Given the description of an element on the screen output the (x, y) to click on. 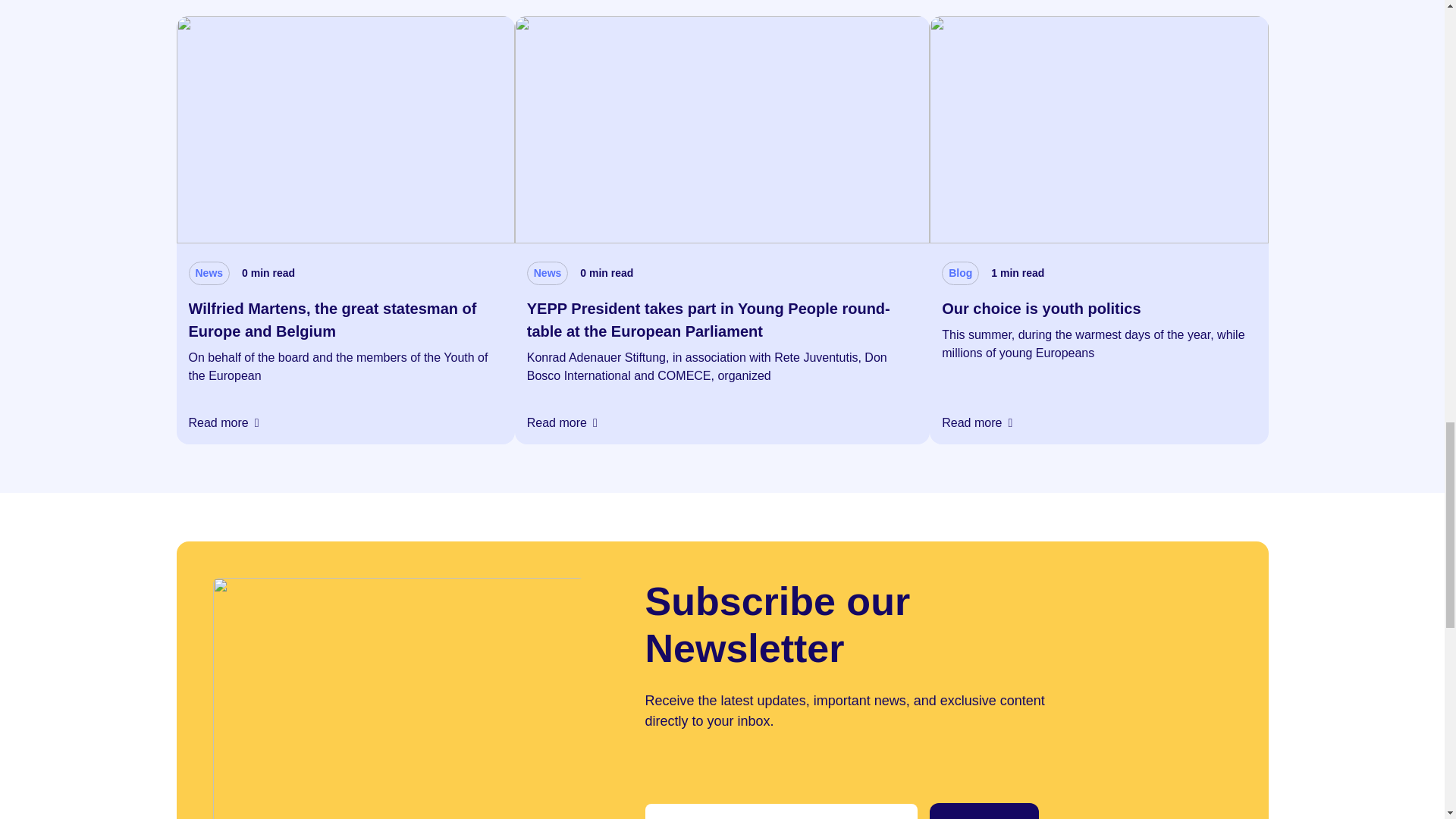
Read more (561, 423)
Read more (976, 423)
Read more (223, 423)
Subscribe (984, 811)
